Given the description of an element on the screen output the (x, y) to click on. 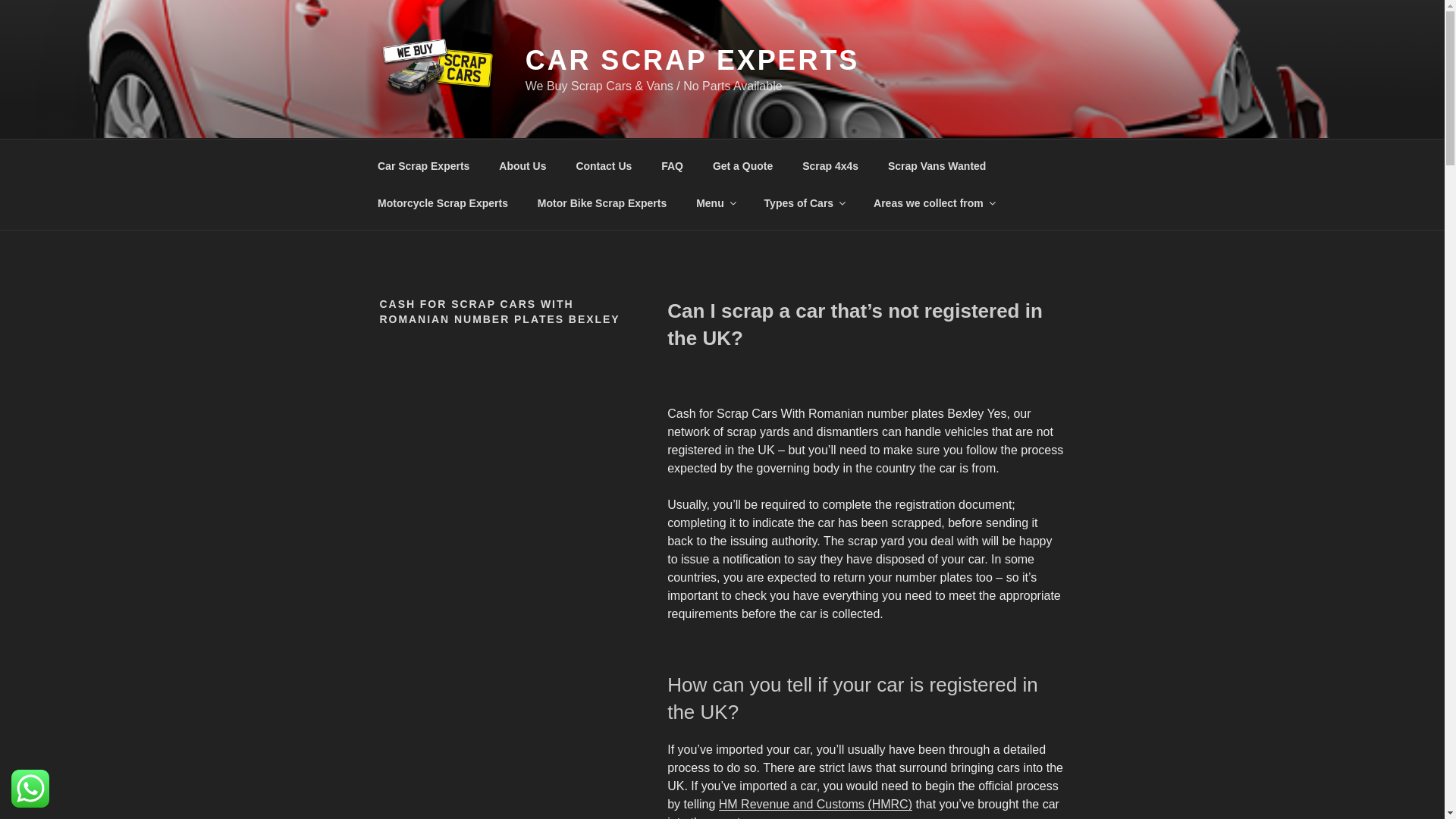
CAR SCRAP EXPERTS (692, 60)
Scrap Vans Wanted (936, 165)
Motorcycle Scrap Experts (442, 203)
Get a Quote (742, 165)
Scrap 4x4s (830, 165)
Car Scrap Experts (422, 165)
Contact Us (603, 165)
FAQ (672, 165)
Motor Bike Scrap Experts (601, 203)
About Us (522, 165)
Types of Cars (804, 203)
Menu (715, 203)
